Given the description of an element on the screen output the (x, y) to click on. 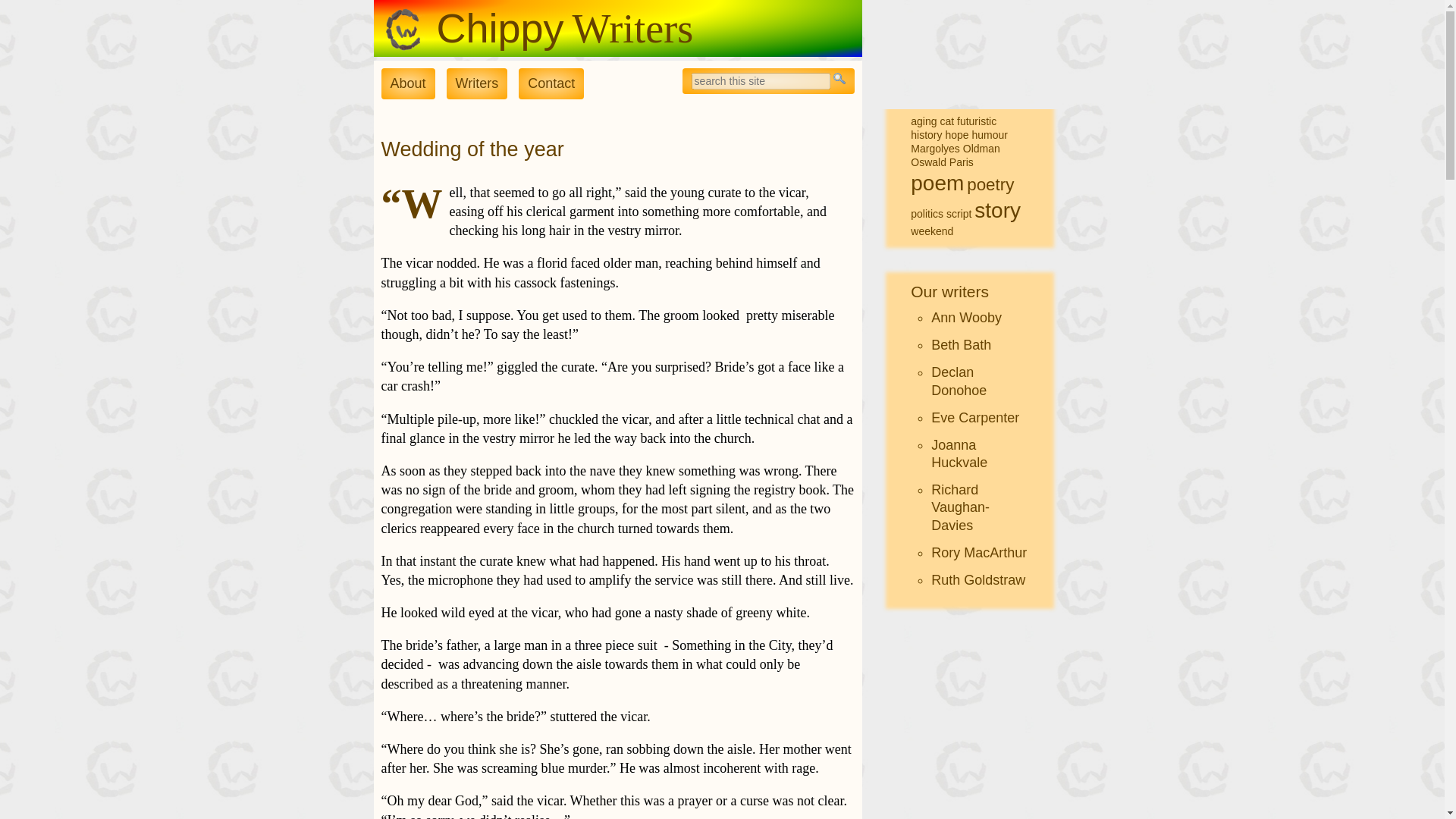
Home (402, 41)
Information about the Chipping Norton Writers Group (406, 83)
About (406, 83)
Writers (477, 83)
Contact (550, 83)
